Given the description of an element on the screen output the (x, y) to click on. 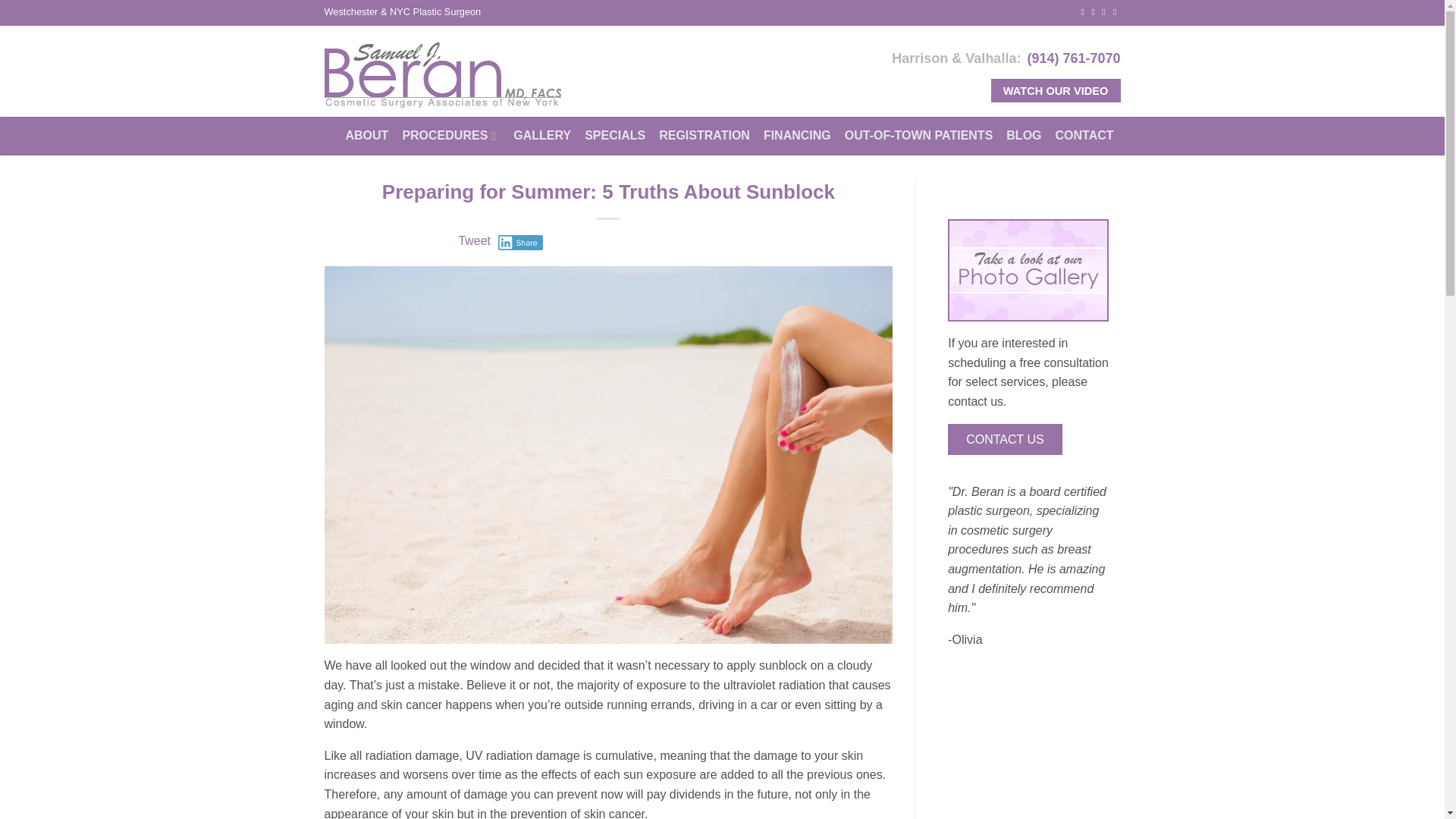
GALLERY (549, 134)
Dr. Samuel Beran (484, 74)
SPECIALS (622, 134)
WATCH OUR VIDEO (1056, 90)
PROCEDURES (457, 134)
ABOUT (374, 134)
